Given the description of an element on the screen output the (x, y) to click on. 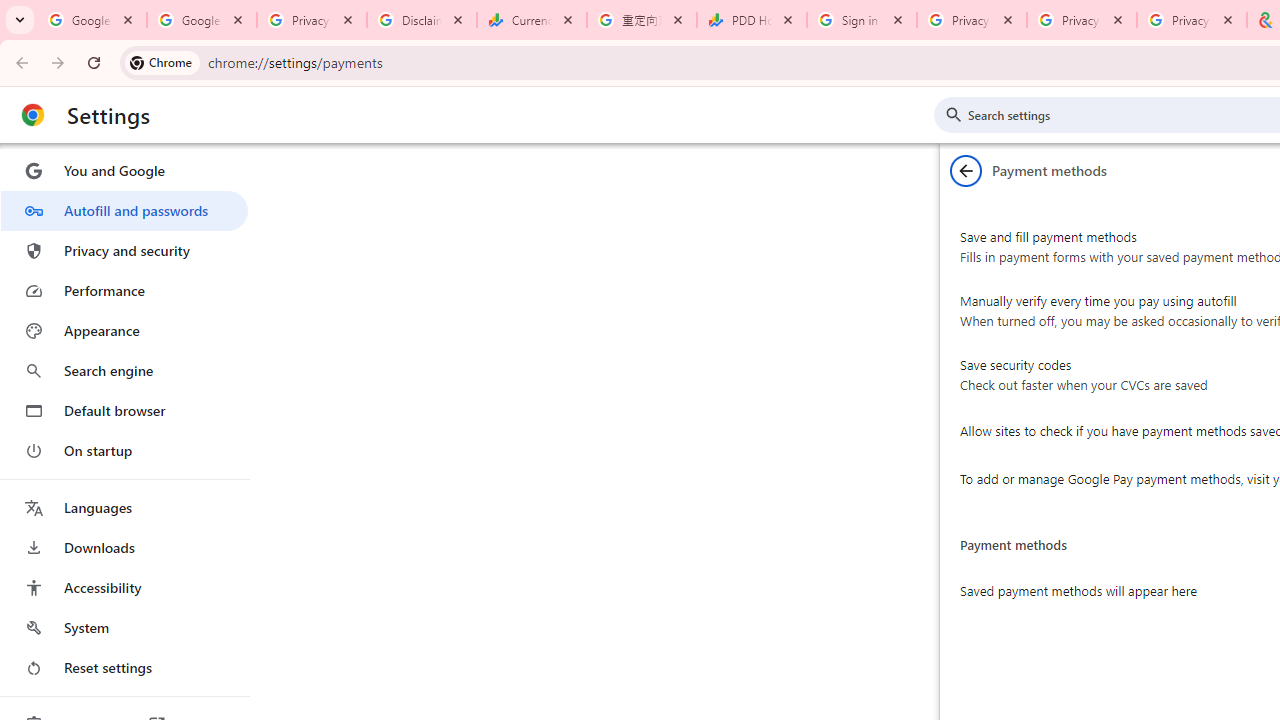
Default browser (124, 410)
Reset settings (124, 668)
Privacy and security (124, 250)
You and Google (124, 170)
Appearance (124, 331)
Accessibility (124, 587)
Languages (124, 507)
Performance (124, 290)
Sign in - Google Accounts (861, 20)
